Given the description of an element on the screen output the (x, y) to click on. 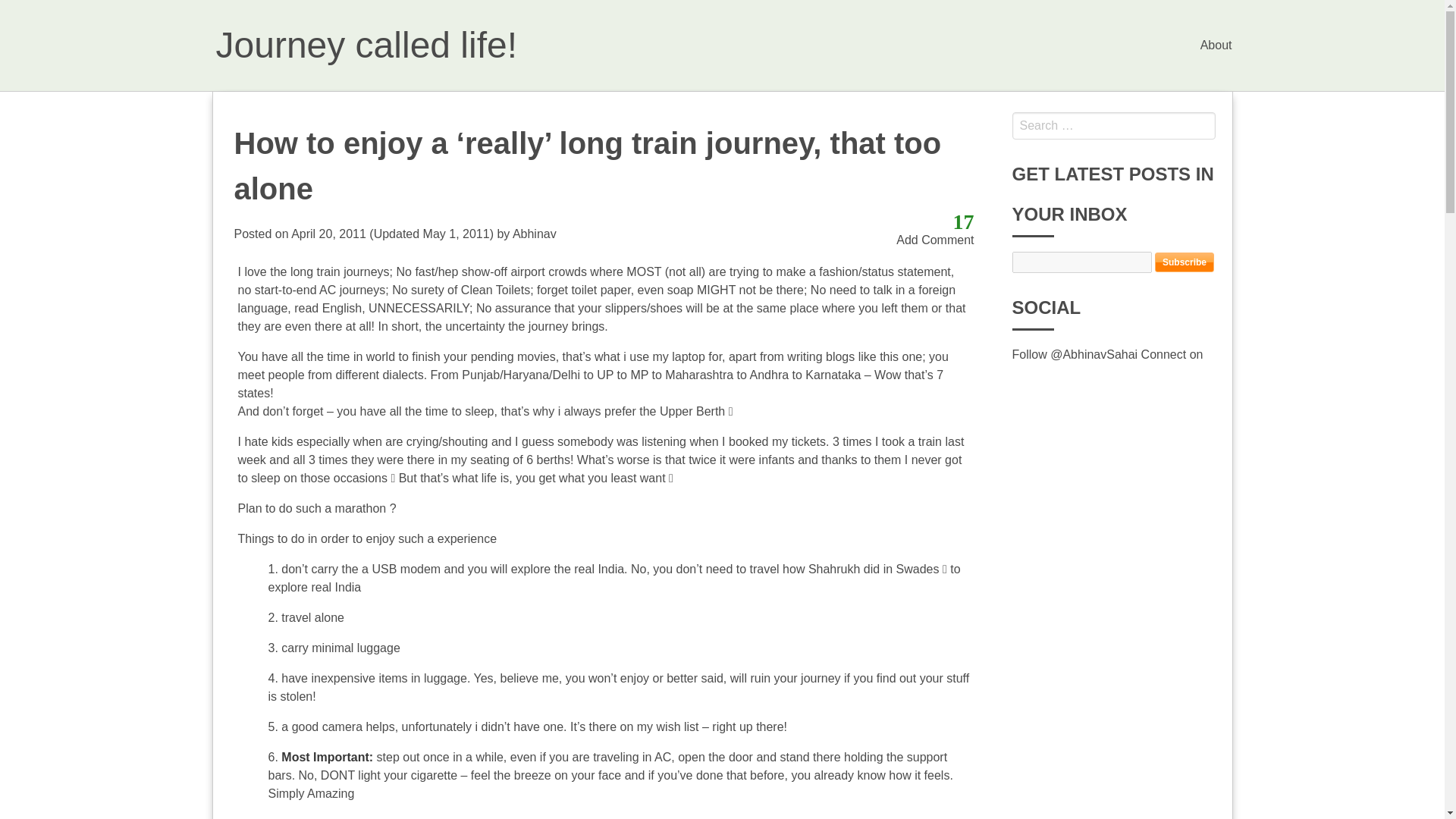
17 (963, 221)
Search (25, 9)
Abhinav (534, 233)
About (1216, 45)
Subscribe (1184, 261)
Subscribe (1184, 261)
Add Comment (935, 239)
Search for: (1112, 125)
